Given the description of an element on the screen output the (x, y) to click on. 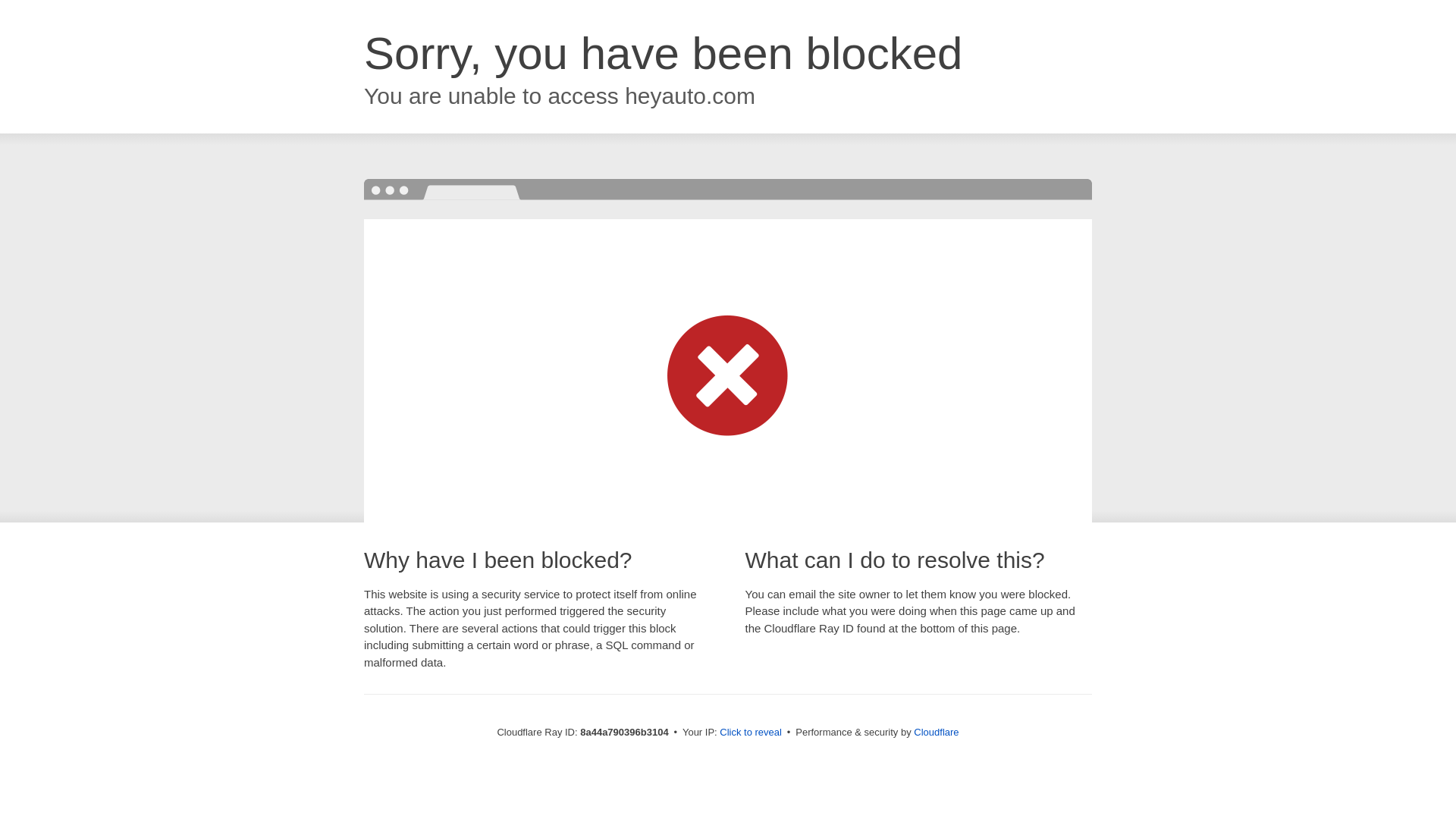
Cloudflare (936, 731)
Click to reveal (750, 732)
